Given the description of an element on the screen output the (x, y) to click on. 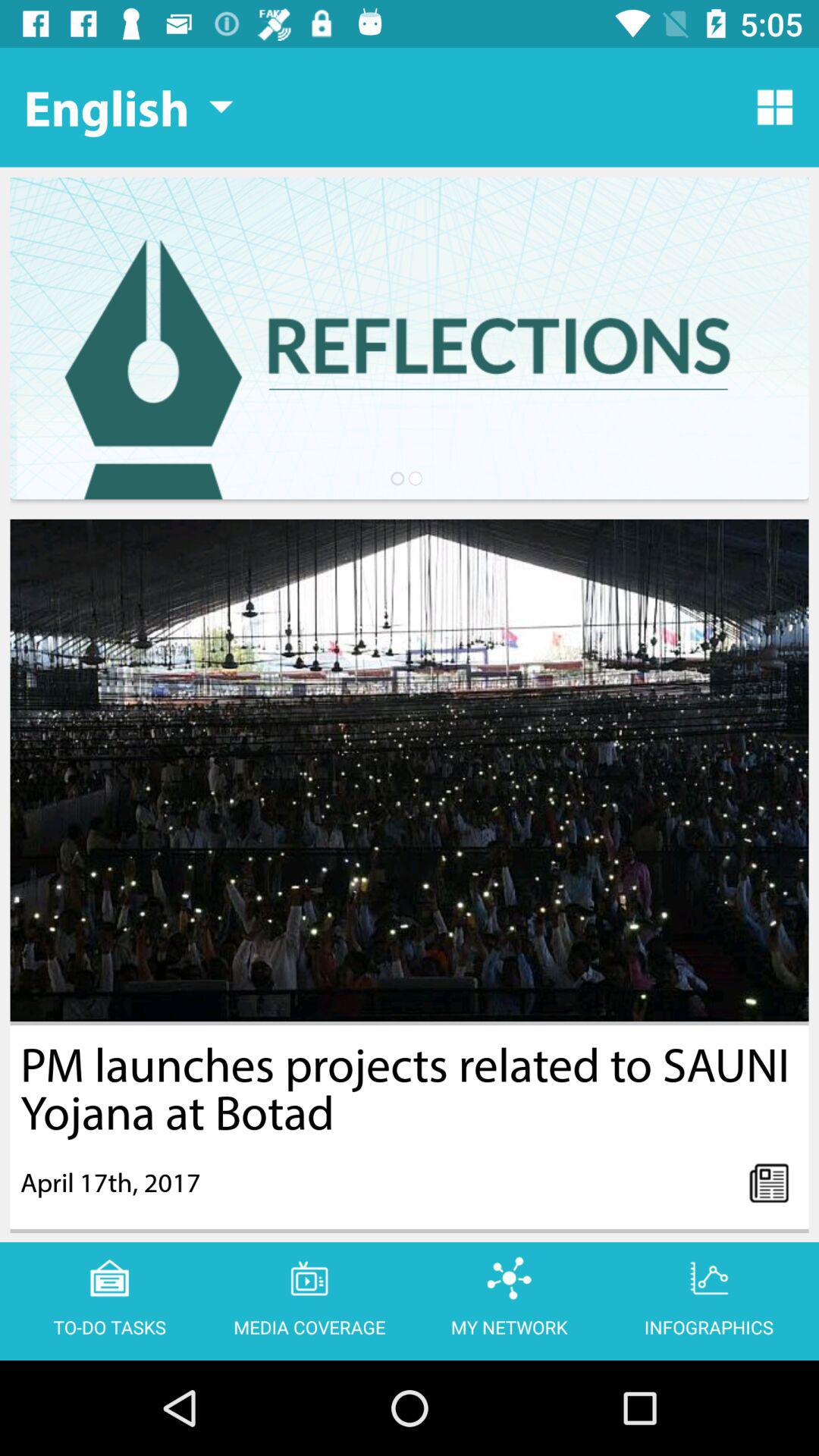
open the english (128, 107)
